Given the description of an element on the screen output the (x, y) to click on. 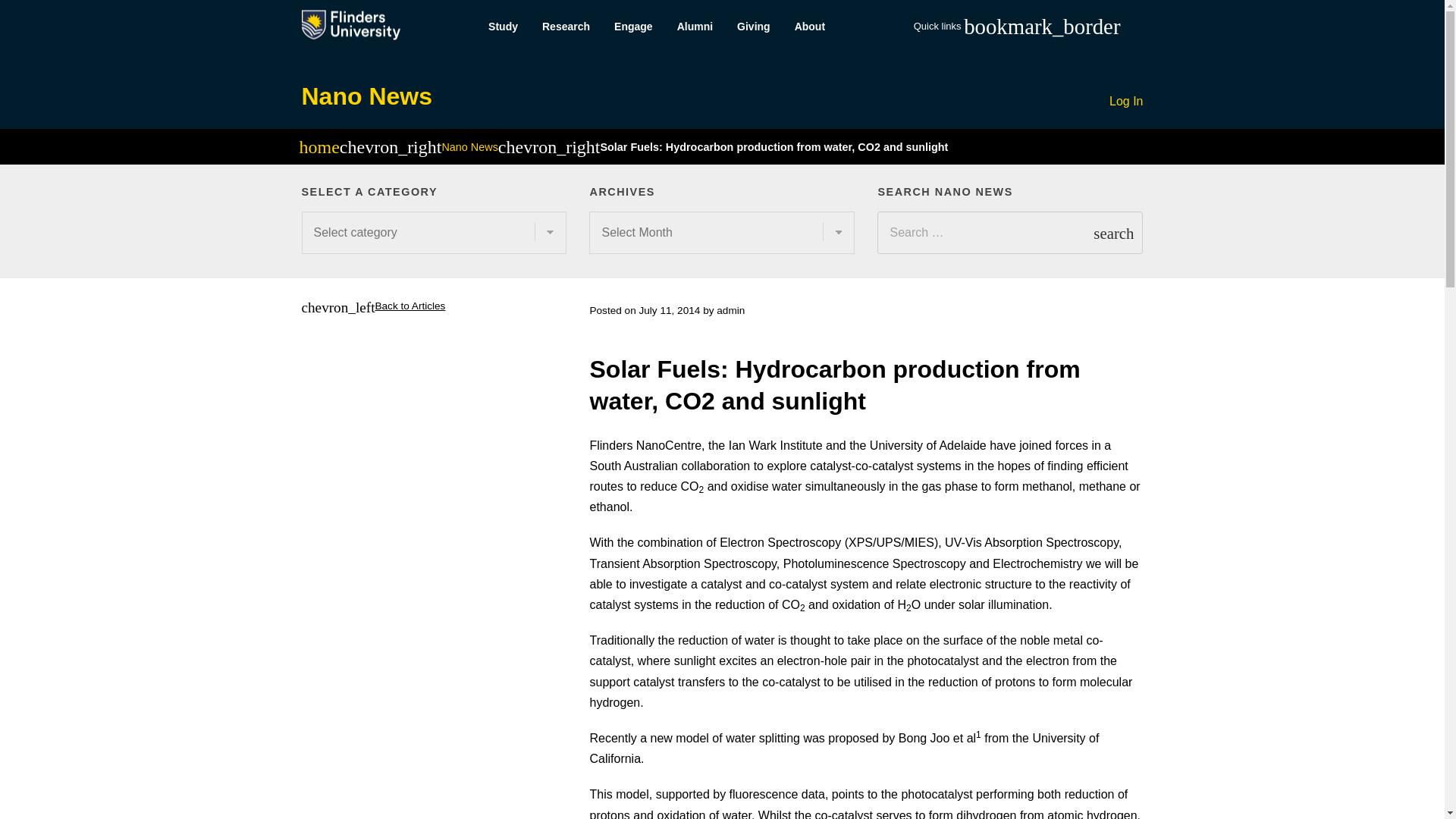
search (1113, 232)
Study (502, 26)
Alumni (695, 26)
July 11, 2014 (669, 310)
Research (565, 26)
ANNUAL CONFERENCE 2014 (1203, 324)
Nano News (366, 95)
home (318, 149)
About (810, 26)
Engage (633, 26)
Giving (754, 26)
admin (730, 310)
Log In (1125, 101)
Nano News (469, 146)
